Given the description of an element on the screen output the (x, y) to click on. 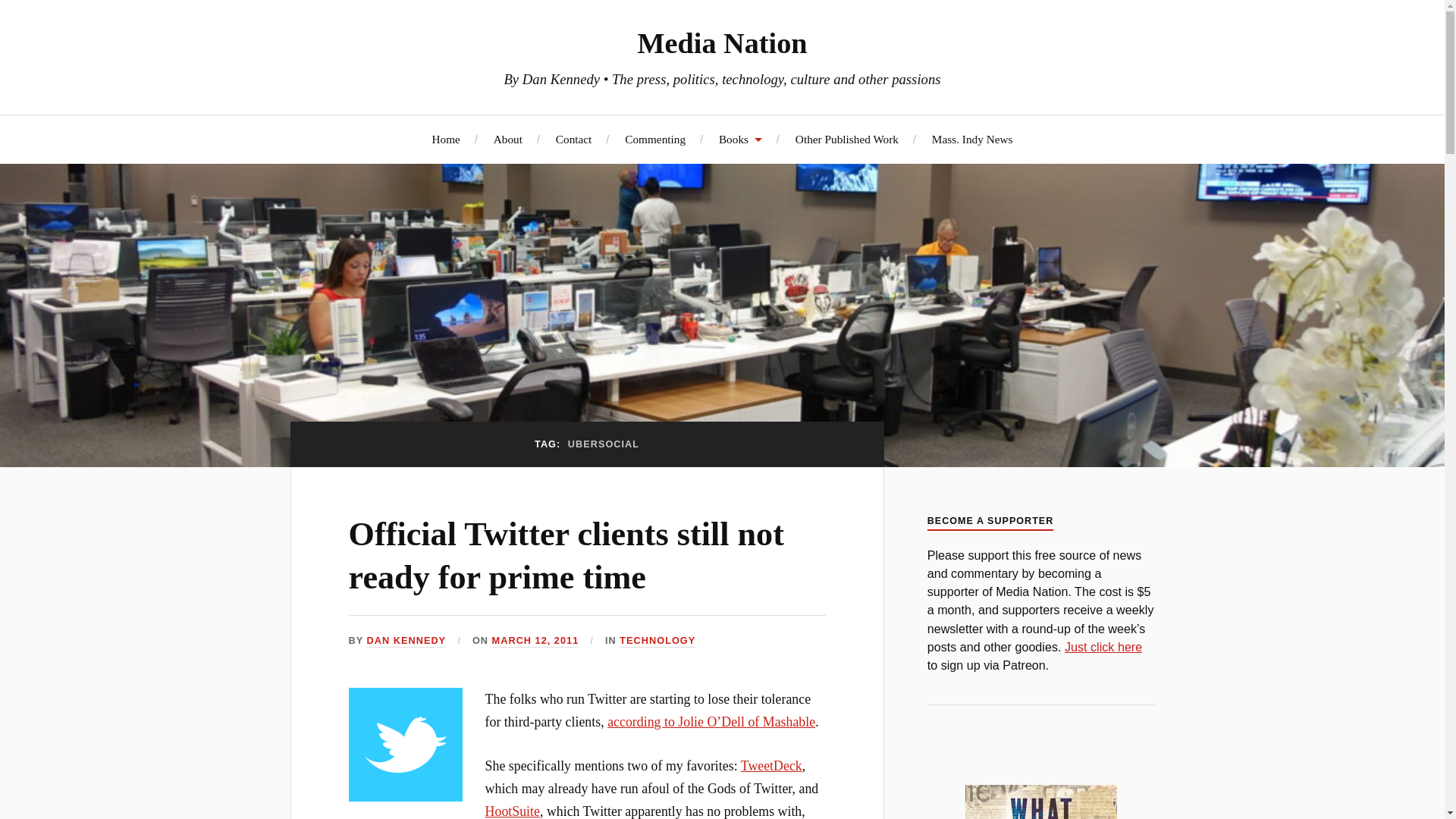
Books (740, 138)
Official Twitter clients still not ready for prime time (566, 555)
Media Nation (721, 42)
Mass. Indy News (972, 138)
About (507, 138)
Posts by Dan Kennedy (406, 640)
Home (445, 138)
Other Published Work (846, 138)
Contact (574, 138)
TECHNOLOGY (657, 640)
Commenting (654, 138)
DAN KENNEDY (406, 640)
MARCH 12, 2011 (535, 640)
TweetDeck (771, 765)
HootSuite (512, 811)
